Given the description of an element on the screen output the (x, y) to click on. 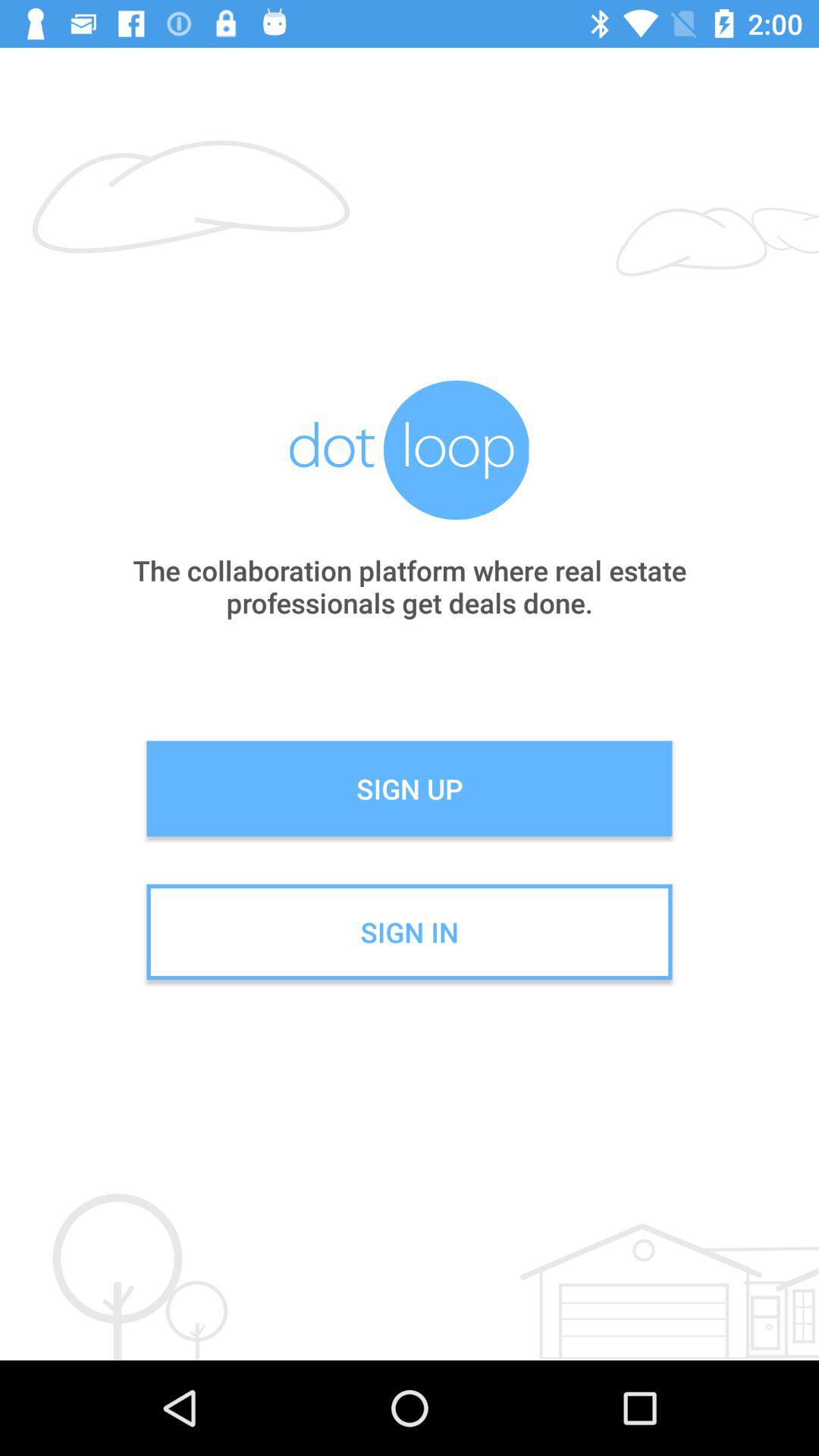
turn on icon above the sign in item (409, 788)
